Given the description of an element on the screen output the (x, y) to click on. 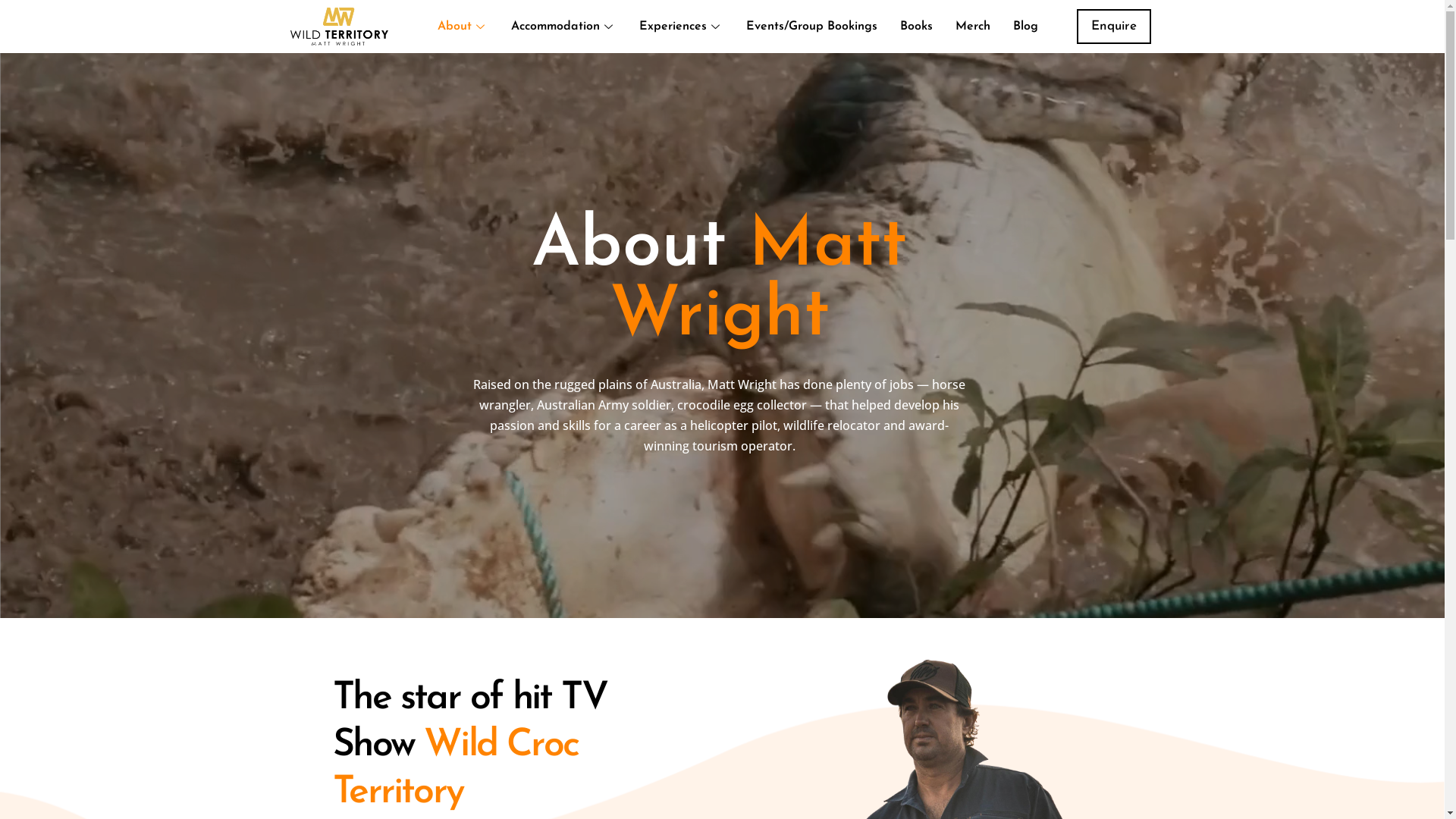
Blog Element type: text (1025, 26)
Merch Element type: text (972, 26)
Events/Group Bookings Element type: text (811, 26)
Enquire Element type: text (1113, 26)
Books Element type: text (916, 26)
Accommodation Element type: text (563, 26)
Experiences Element type: text (680, 26)
About Element type: text (462, 26)
